Given the description of an element on the screen output the (x, y) to click on. 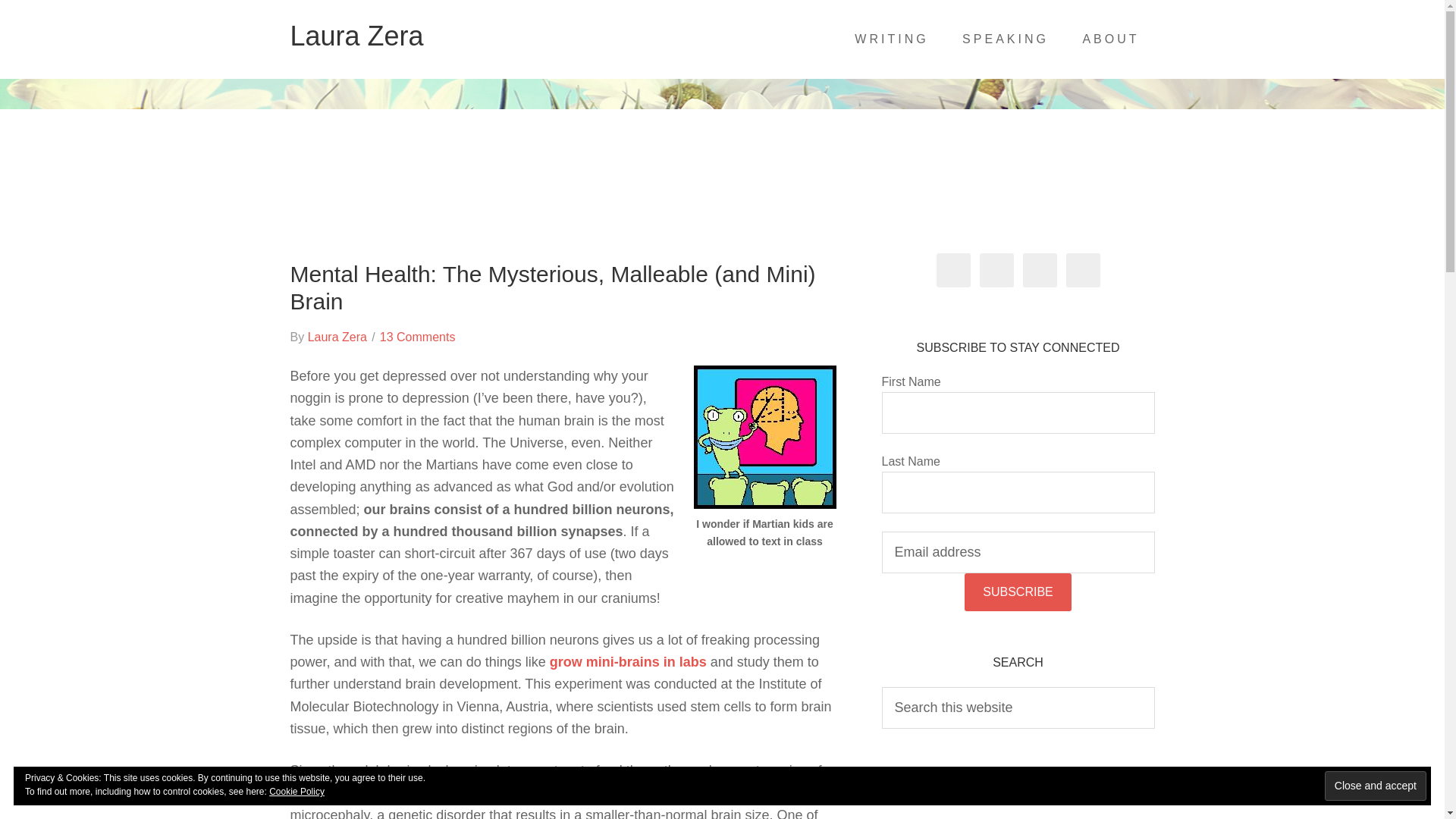
Close and accept (1375, 785)
Subscribe (1016, 591)
SPEAKING (1005, 39)
ABOUT (1110, 39)
Laura Zera (336, 336)
Cookie Policy (296, 791)
Laura Zera (356, 35)
Subscribe (1016, 591)
13 Comments (417, 336)
NBC coverage of brains grown in lab (628, 661)
Close and accept (1375, 785)
WRITING (891, 39)
